Given the description of an element on the screen output the (x, y) to click on. 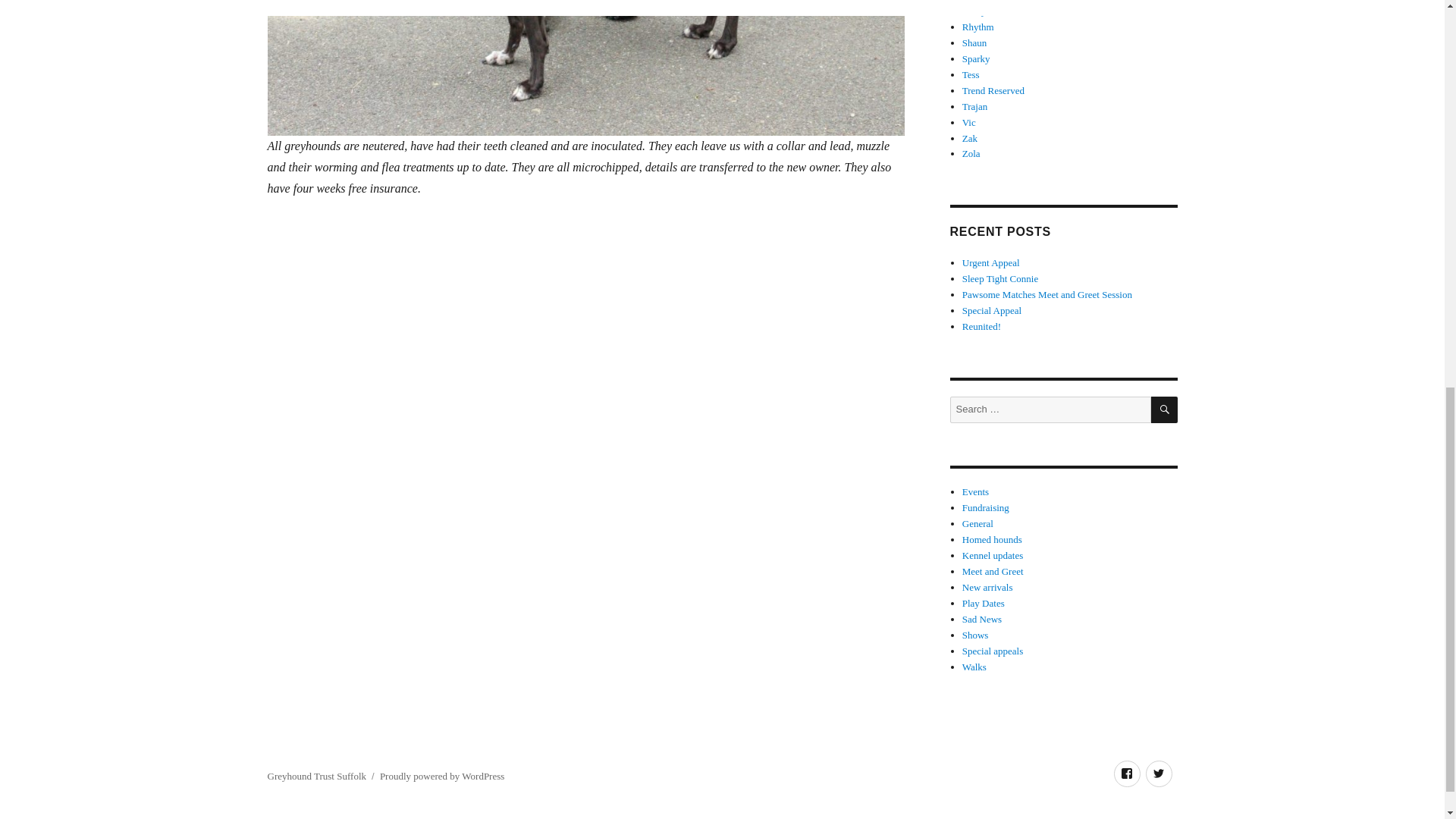
Shaun (974, 42)
Rhythm (978, 26)
Sparky (976, 58)
Molly (974, 10)
Search for: (1049, 409)
Tess (970, 74)
